Given the description of an element on the screen output the (x, y) to click on. 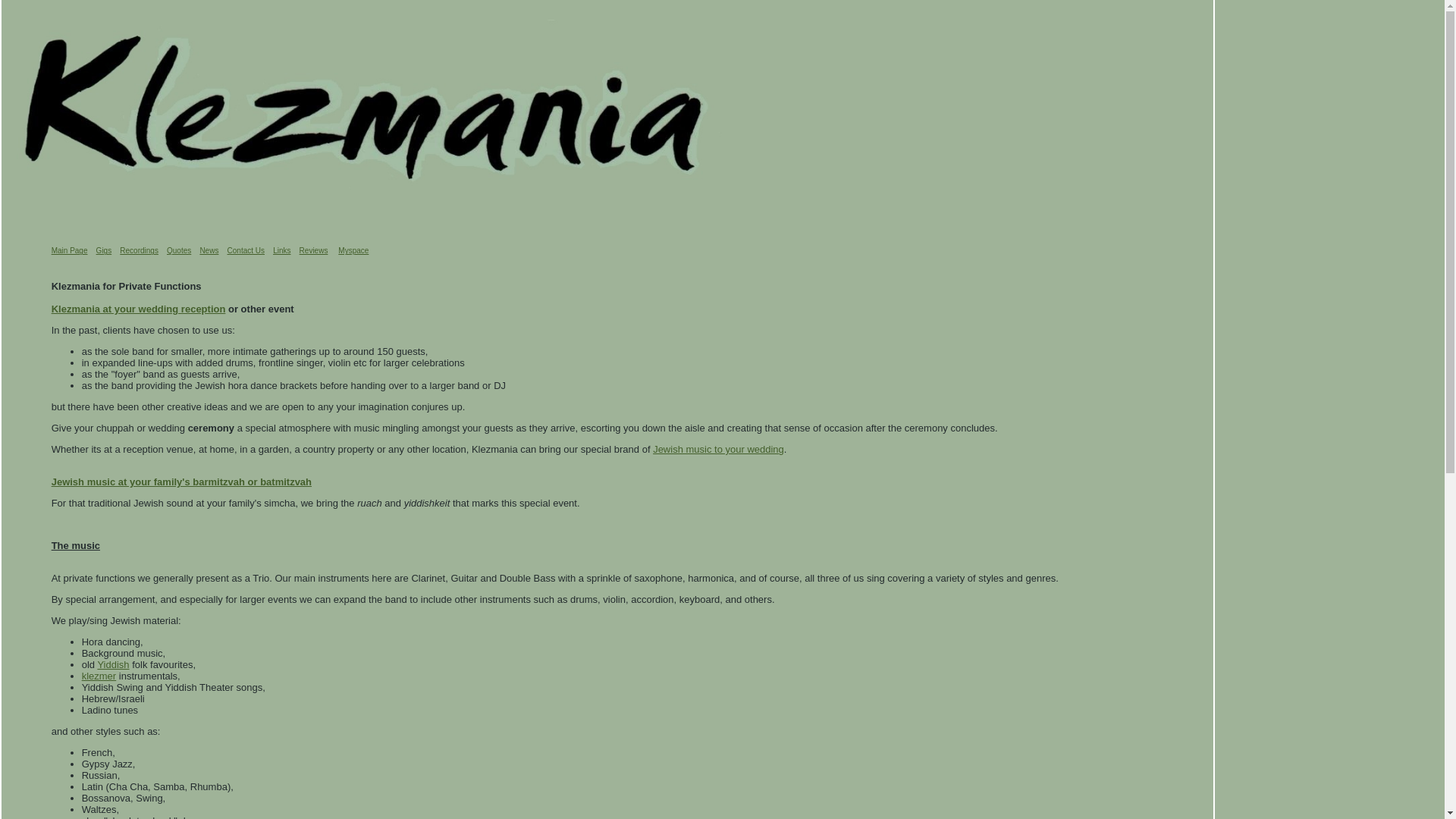
klezmer Element type: text (98, 675)
Recordings Element type: text (138, 250)
Klezmania at your wedding reception Element type: text (138, 308)
Quotes Element type: text (178, 250)
Jewish music to your wedding Element type: text (718, 449)
Gigs Element type: text (104, 250)
Links Element type: text (281, 250)
Jewish music at your family's barmitzvah or batmitzvah Element type: text (181, 481)
Contact Us Element type: text (245, 250)
Myspace Element type: text (353, 250)
Yiddish Element type: text (112, 664)
News Element type: text (208, 250)
Main Page Element type: text (69, 250)
Reviews Element type: text (313, 250)
Klezmania for Private Functions Element type: text (126, 285)
